Given the description of an element on the screen output the (x, y) to click on. 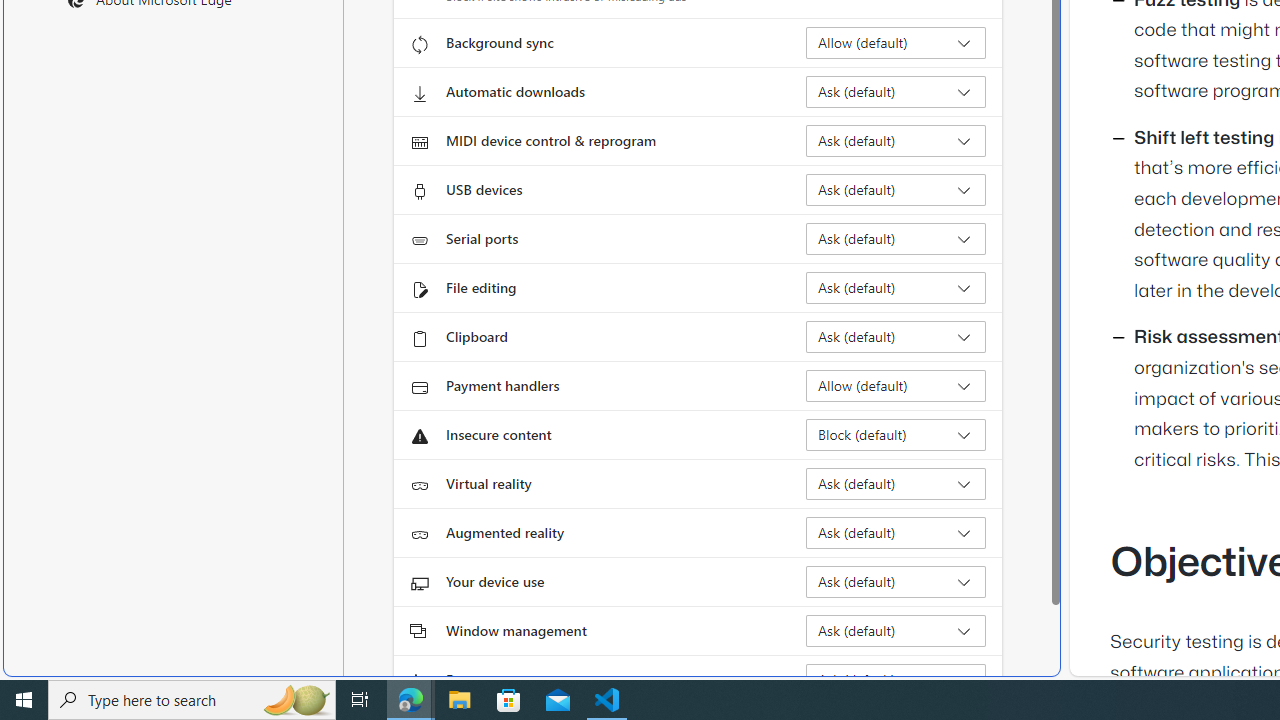
Automatic downloads Ask (default) (895, 92)
Virtual reality Ask (default) (895, 483)
Payment handlers Allow (default) (895, 385)
Background sync Allow (default) (895, 43)
Clipboard Ask (default) (895, 336)
Your device use Ask (default) (895, 581)
MIDI device control & reprogram Ask (default) (895, 140)
USB devices Ask (default) (895, 189)
File editing Ask (default) (895, 287)
Augmented reality Ask (default) (895, 532)
Insecure content Block (default) (895, 434)
Fonts Ask (default) (895, 679)
Window management Ask (default) (895, 630)
Serial ports Ask (default) (895, 238)
